Given the description of an element on the screen output the (x, y) to click on. 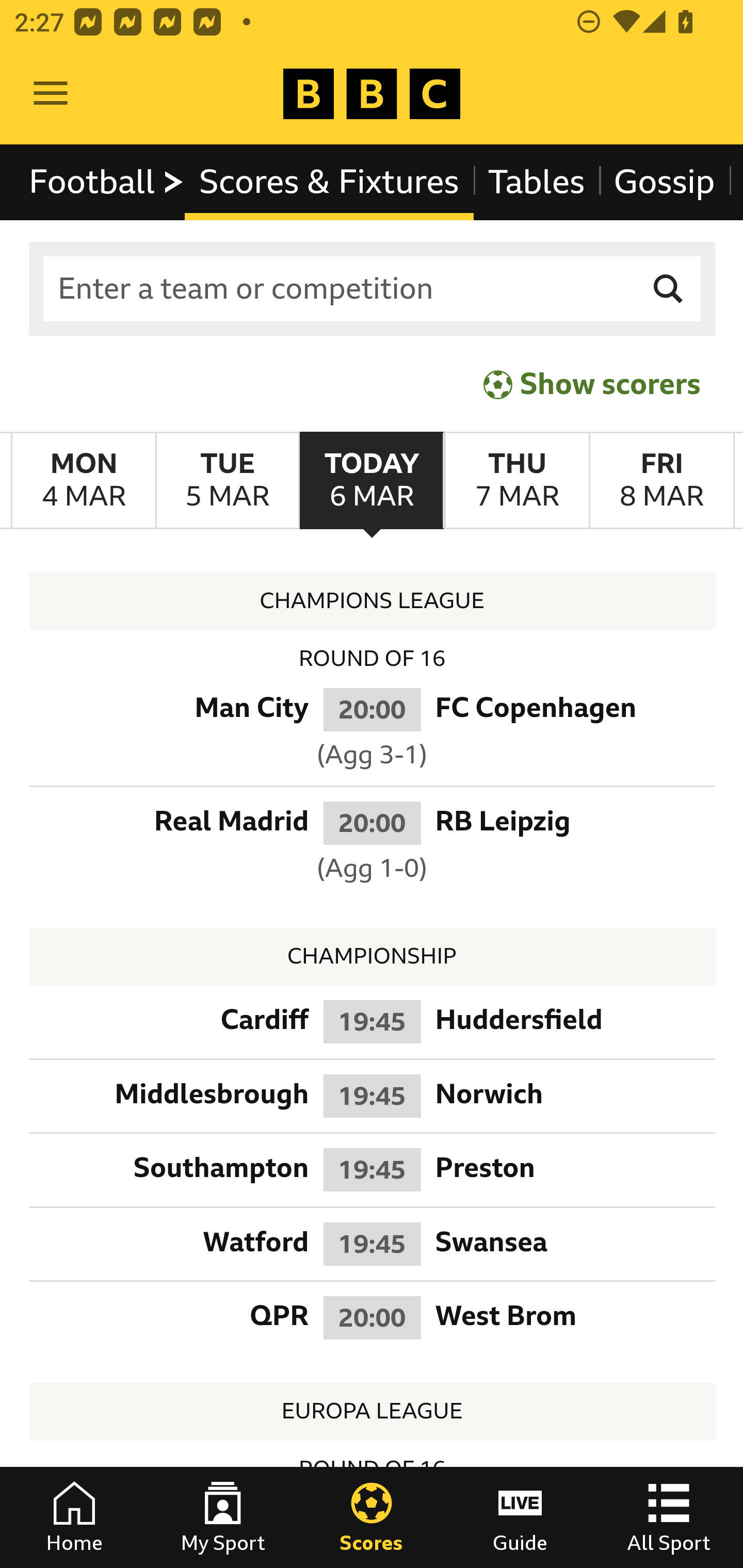
Open Menu (50, 93)
Football  (106, 181)
Scores & Fixtures (329, 181)
Tables (536, 181)
Gossip (664, 181)
Search (669, 289)
Show scorers (591, 383)
MondayMarch 4th Monday March 4th (83, 480)
TuesdayMarch 5th Tuesday March 5th (227, 480)
ThursdayMarch 7th Thursday March 7th (516, 480)
FridayMarch 8th Friday March 8th (661, 480)
Home (74, 1517)
My Sport (222, 1517)
Guide (519, 1517)
All Sport (668, 1517)
